Given the description of an element on the screen output the (x, y) to click on. 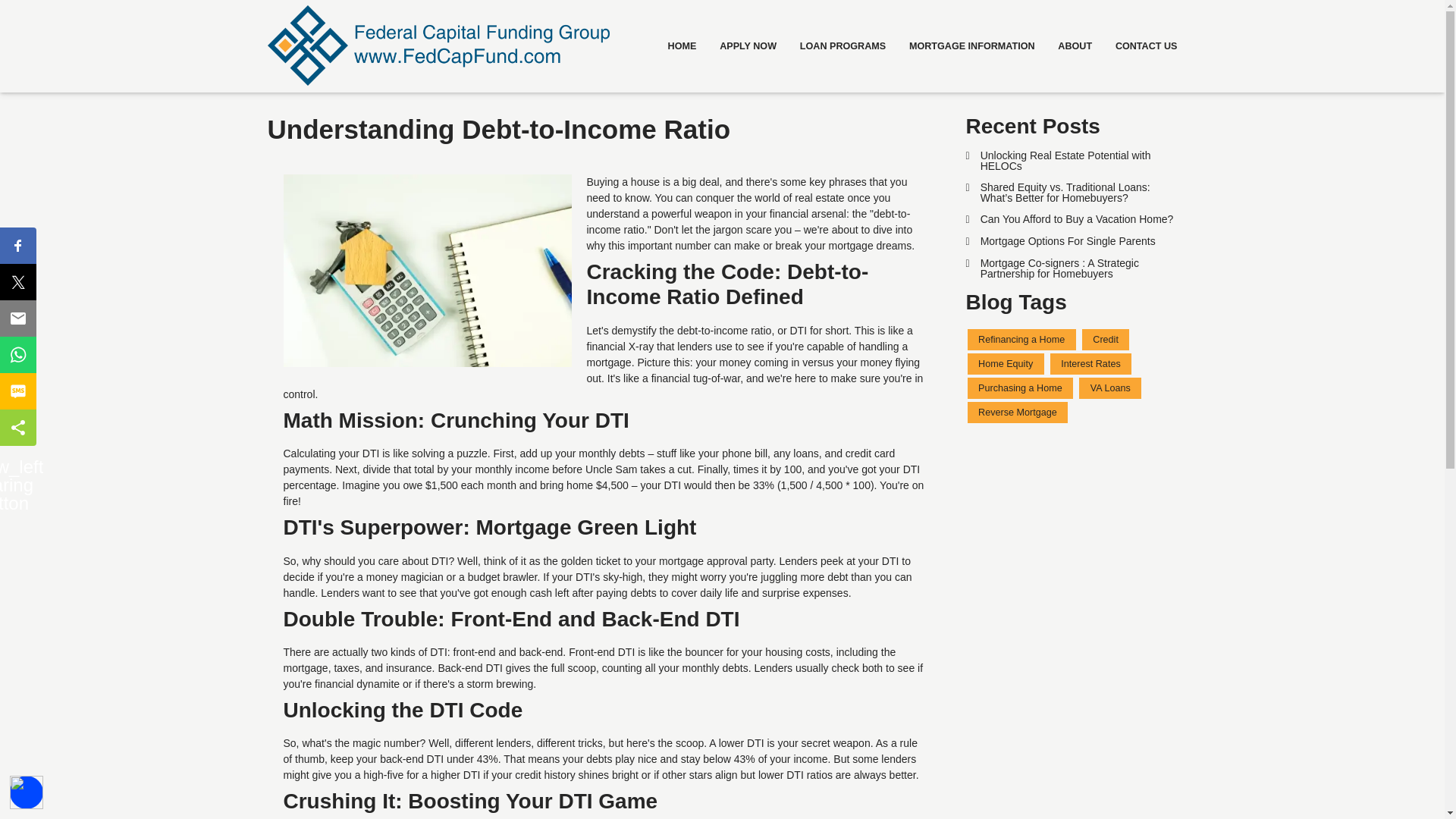
Accessibility Menu (26, 792)
Mortgage Options For Single Parents (1071, 241)
Mortgage Co-signers : A Strategic Partnership for Homebuyers (1071, 268)
Reverse Mortgage (1018, 412)
VA Loans (1109, 387)
Credit (1105, 339)
Can You Afford to Buy a Vacation Home? (1071, 219)
Purchasing a Home (1021, 387)
Interest Rates (1090, 363)
Refinancing a Home (1021, 339)
Unlocking Real Estate Potential with HELOCs (1071, 160)
MORTGAGE INFORMATION (972, 46)
Home Equity (1005, 363)
LOAN PROGRAMS (841, 46)
